Given the description of an element on the screen output the (x, y) to click on. 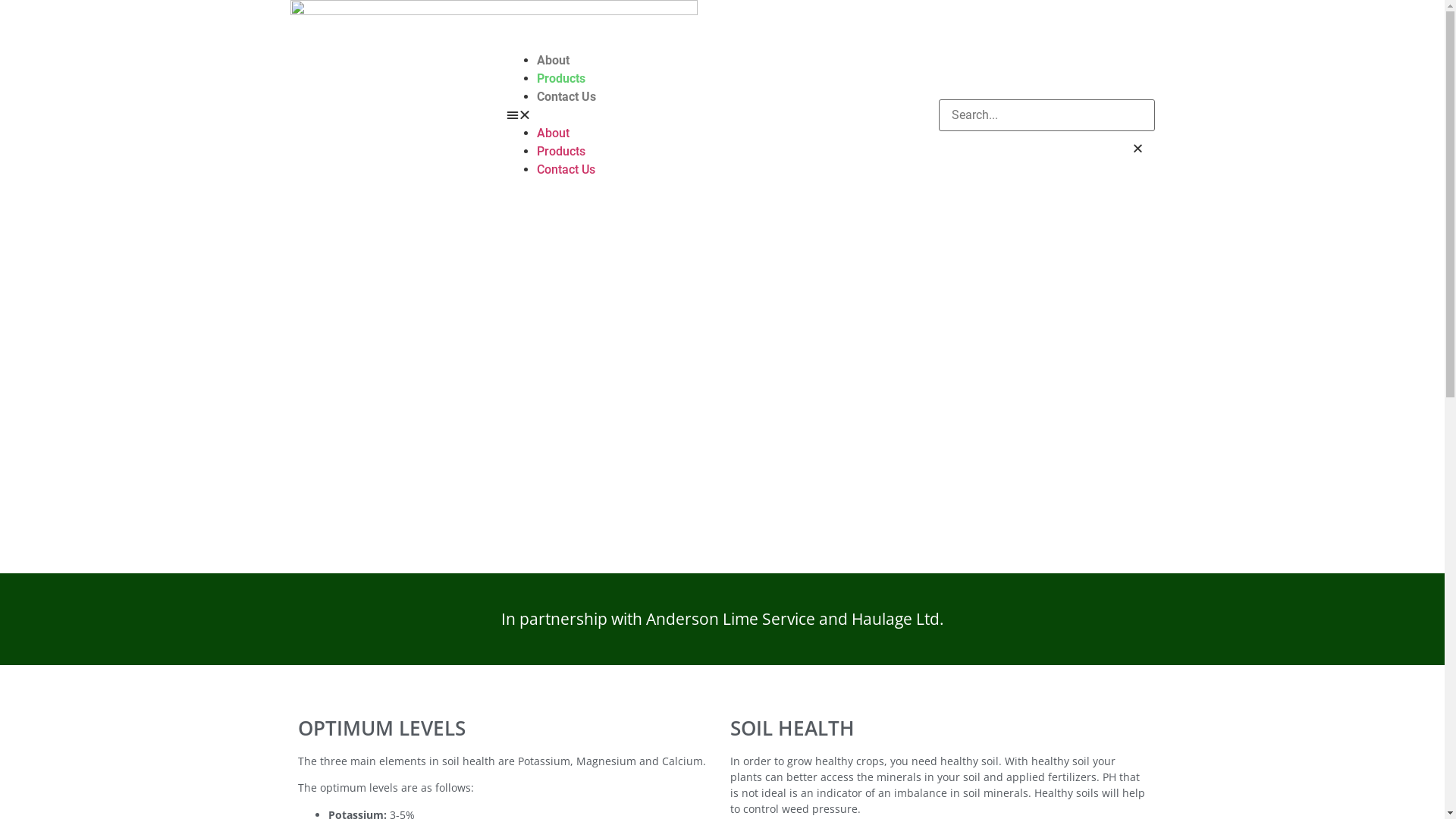
About Element type: text (552, 60)
Products Element type: text (560, 151)
About Element type: text (552, 132)
Contact Us Element type: text (566, 96)
Search Element type: hover (1046, 115)
Contact Us Element type: text (565, 169)
Products Element type: text (560, 78)
